Given the description of an element on the screen output the (x, y) to click on. 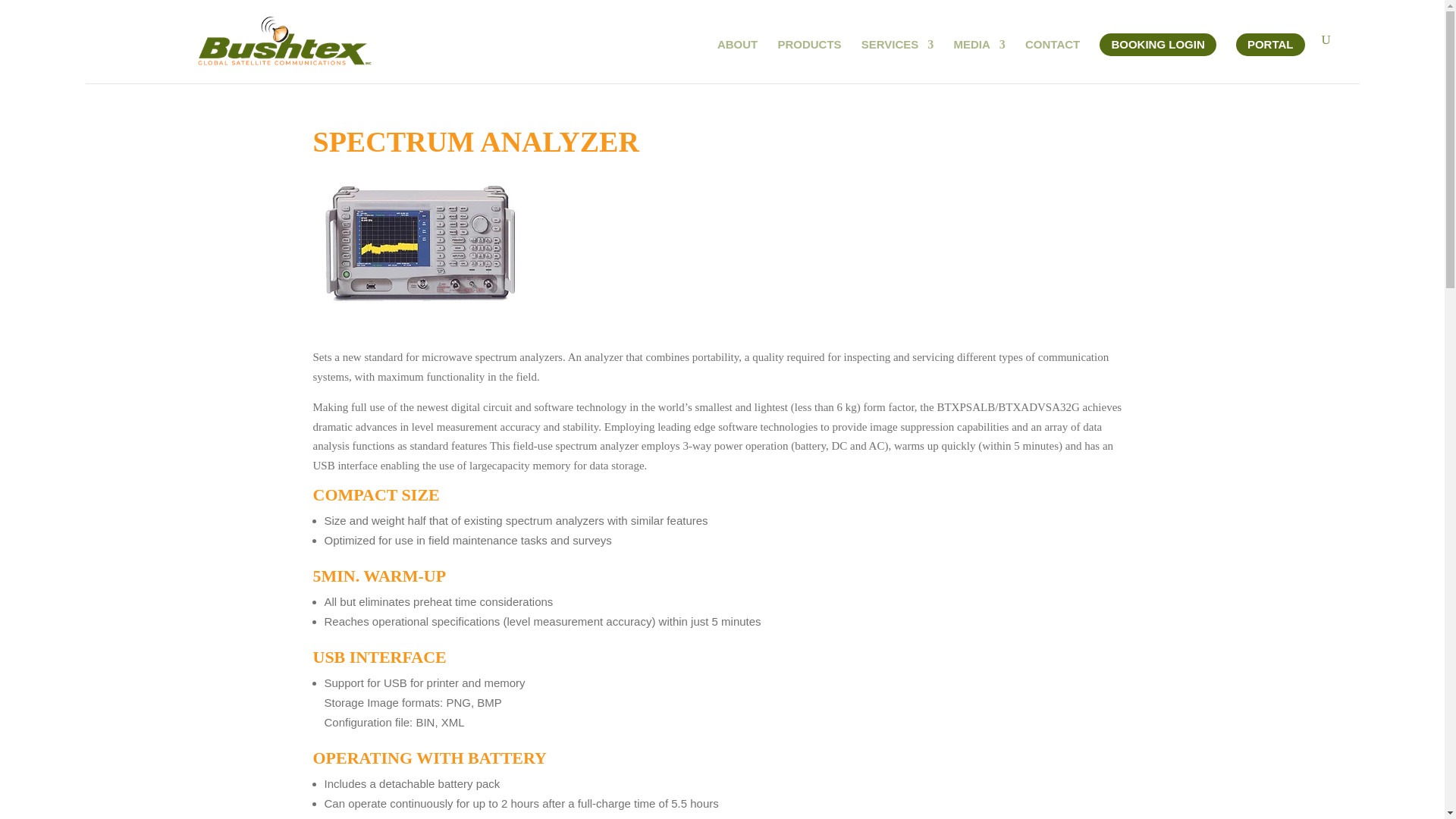
CONTACT (1052, 61)
ABOUT (737, 61)
BOOKING LOGIN (1157, 44)
MEDIA (979, 61)
PRODUCTS (809, 61)
SERVICES (897, 61)
PORTAL (1270, 44)
